Given the description of an element on the screen output the (x, y) to click on. 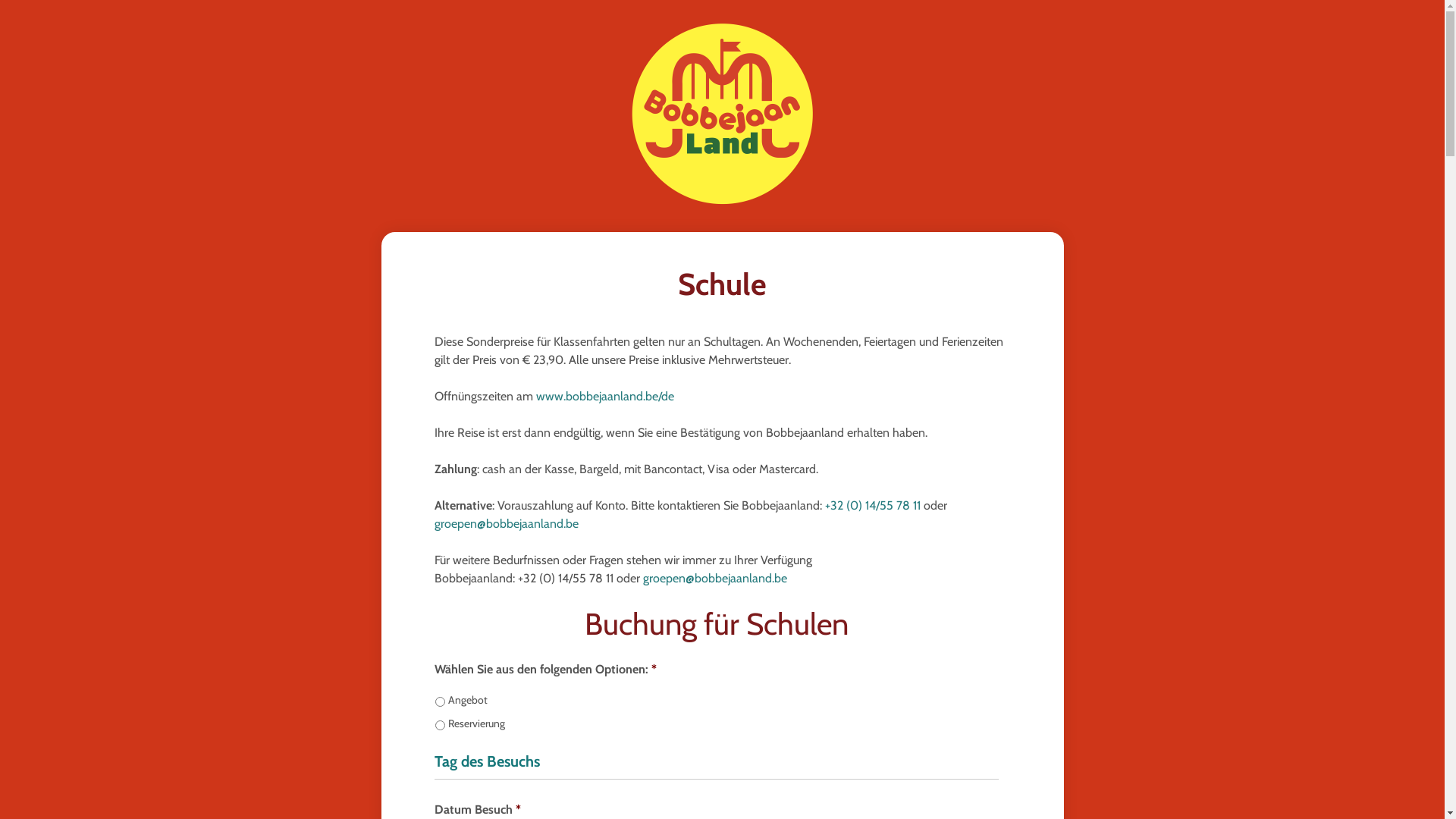
www.bobbejaanland.be/de Element type: text (604, 396)
groepen@bobbejaanland.be Element type: text (505, 523)
groepen@bobbejaanland.be Element type: text (715, 578)
